Given the description of an element on the screen output the (x, y) to click on. 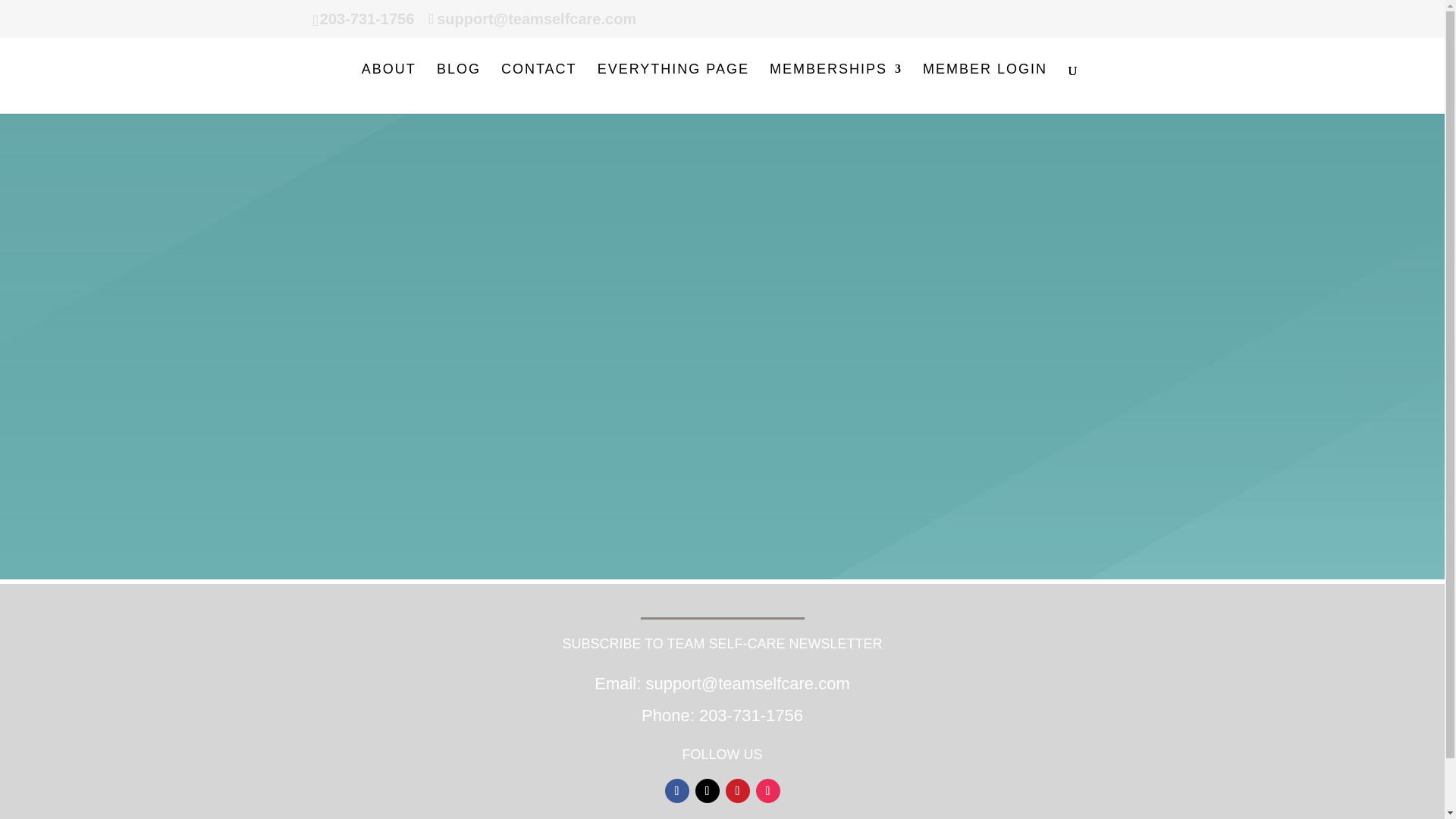
EVERYTHING PAGE (672, 88)
Follow on Facebook (675, 790)
ABOUT (388, 88)
MEMBER LOGIN (984, 88)
Follow on Pinterest (737, 790)
Follow on Instagram (766, 790)
MEMBERSHIPS (836, 88)
Follow on Twitter (706, 790)
CONTACT (538, 88)
